Given the description of an element on the screen output the (x, y) to click on. 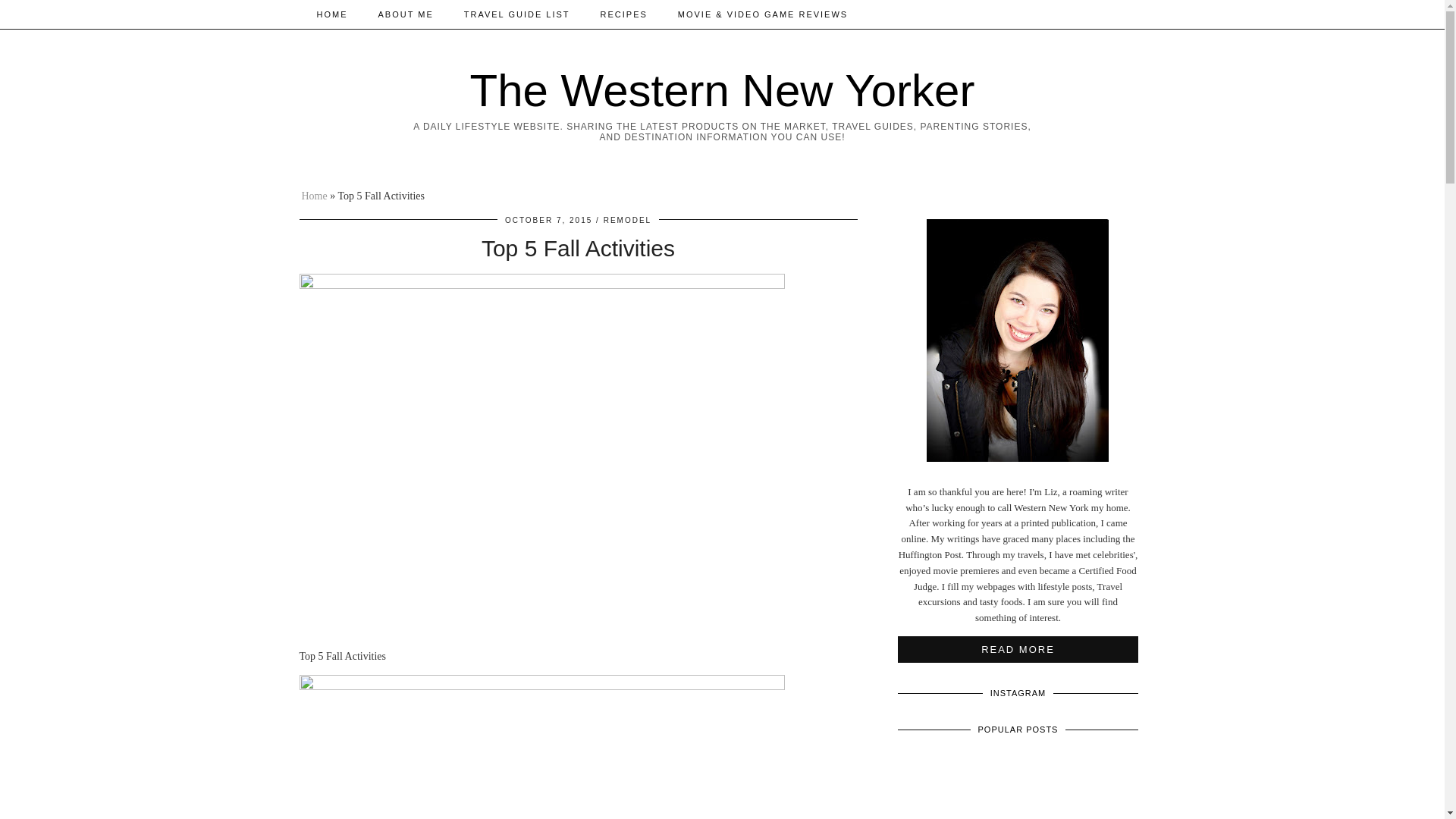
READ MORE (1018, 649)
HOME (331, 14)
7 Ways to Experience St. Augustine Florida (1018, 780)
TRAVEL GUIDE LIST (516, 14)
RECIPES (623, 14)
ABOUT ME (405, 14)
Home (314, 195)
The Western New Yorker (722, 90)
REMODEL (627, 220)
The Western New Yorker (722, 90)
